Given the description of an element on the screen output the (x, y) to click on. 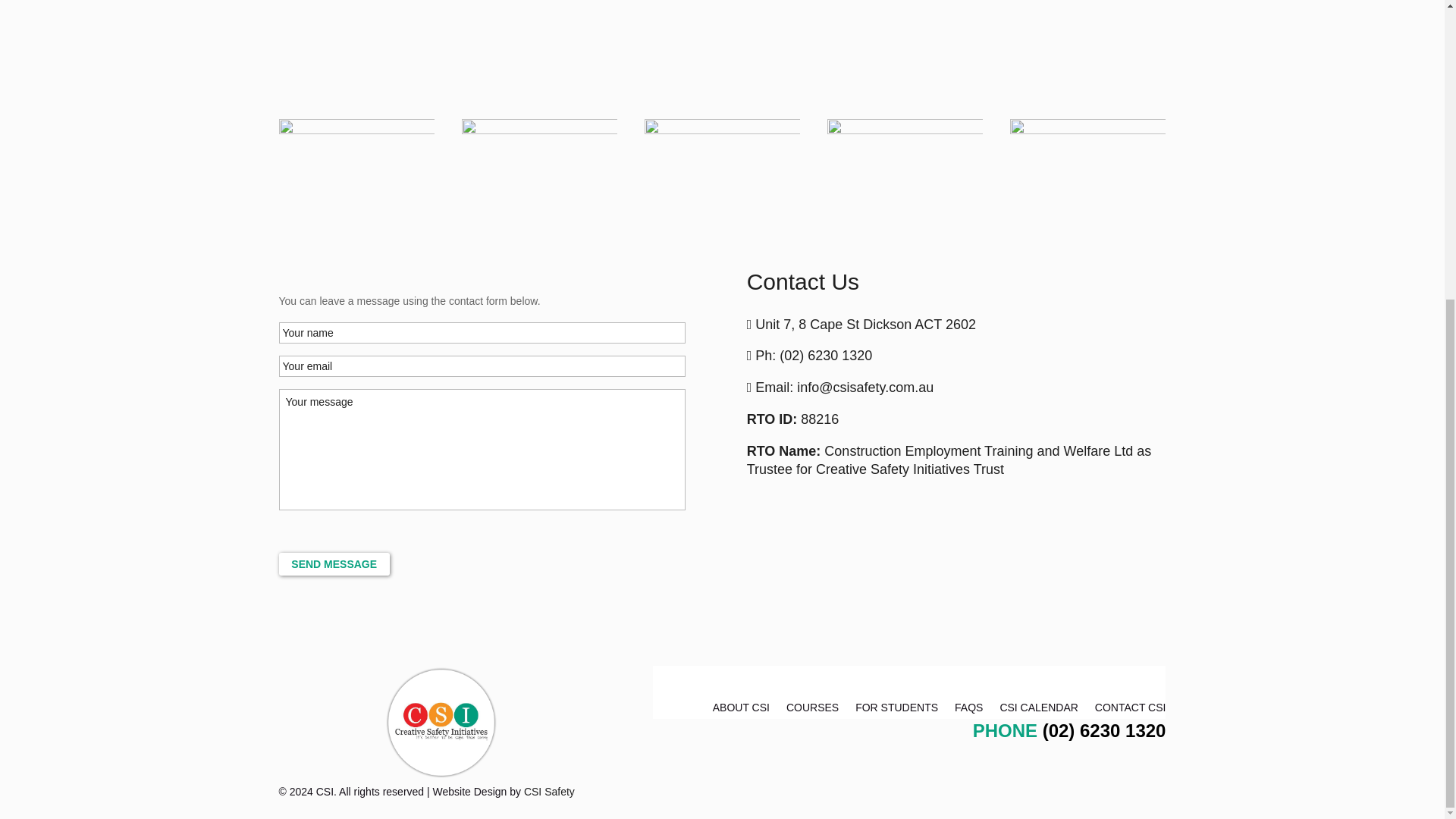
Send Message (334, 563)
FOR STUDENTS (896, 710)
Unit 7, 8 Cape St Dickson ACT 2602 (865, 324)
CONTACT CSI (1130, 710)
ABOUT CSI (741, 710)
Send Message (334, 563)
CSI Safety (549, 791)
COURSES (812, 710)
CSI CALENDAR (1037, 710)
FAQS (968, 710)
CSI-Circle-Logo-with-shadow (440, 722)
